Given the description of an element on the screen output the (x, y) to click on. 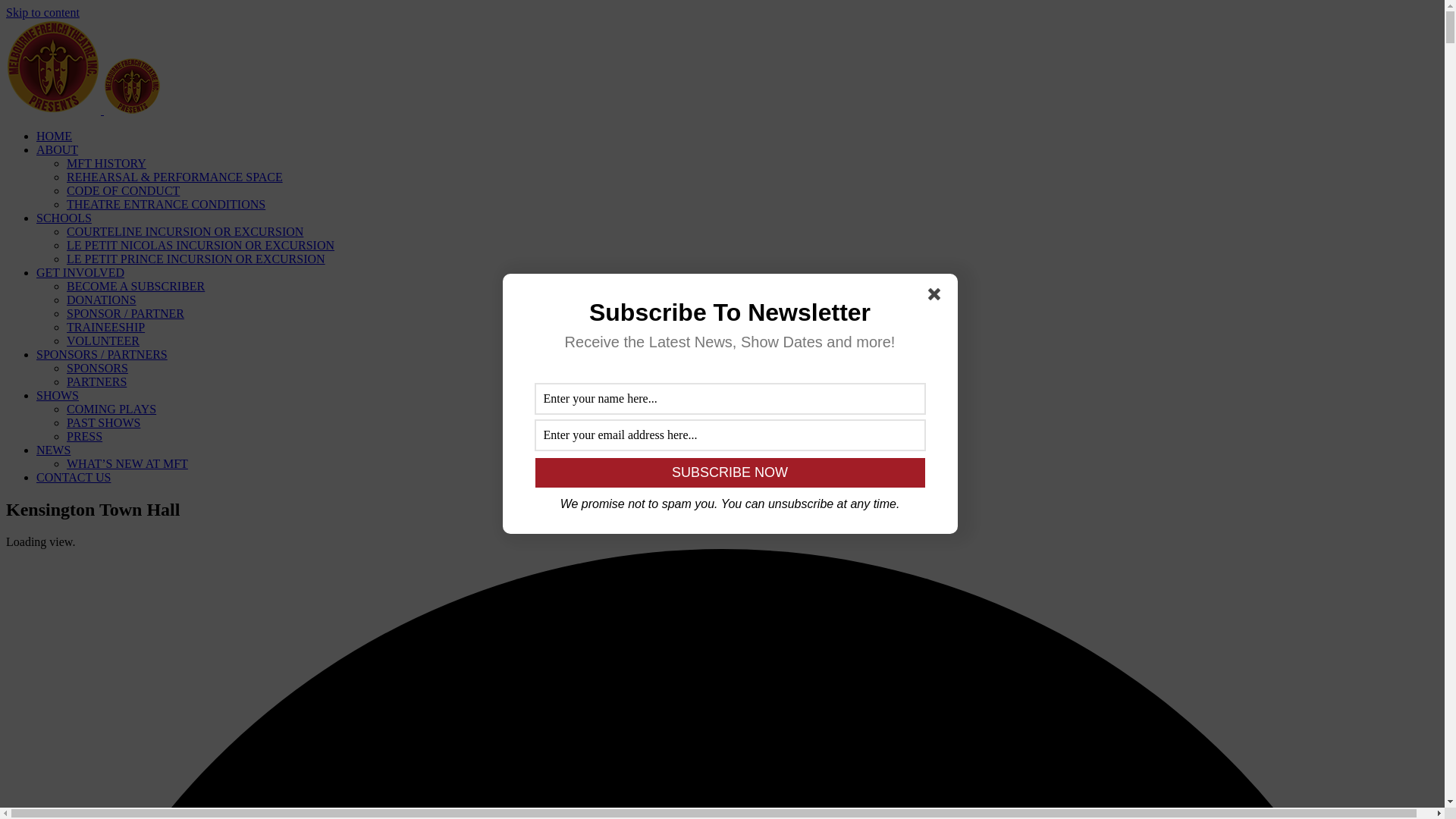
Take Action Now! Element type: text (225, 14)
Skip to content Element type: text (42, 12)
PARTNERS Element type: text (96, 381)
DONATIONS Element type: text (101, 299)
COMING PLAYS Element type: text (111, 408)
HOME Element type: text (54, 135)
THEATRE ENTRANCE CONDITIONS Element type: text (165, 203)
SPONSORS Element type: text (97, 367)
PRESS Element type: text (84, 435)
SCHOOLS Element type: text (63, 217)
SPONSORS / PARTNERS Element type: text (101, 354)
MFT HISTORY Element type: text (106, 162)
PAST SHOWS Element type: text (103, 422)
TRAINEESHIP Element type: text (105, 326)
BECOME A SUBSCRIBER Element type: text (135, 285)
CODE OF CONDUCT Element type: text (122, 190)
GET INVOLVED Element type: text (80, 272)
SHOWS Element type: text (57, 395)
LE PETIT NICOLAS INCURSION OR EXCURSION Element type: text (200, 244)
NEWS Element type: text (53, 449)
ABOUT Element type: text (57, 149)
LE PETIT PRINCE INCURSION OR EXCURSION Element type: text (195, 258)
Subscribe Now Element type: text (730, 472)
REHEARSAL & PERFORMANCE SPACE Element type: text (174, 176)
SPONSOR / PARTNER Element type: text (125, 313)
Close optin form Element type: hover (937, 297)
CONTACT US Element type: text (73, 476)
VOLUNTEER Element type: text (102, 340)
COURTELINE INCURSION OR EXCURSION Element type: text (184, 231)
